Given the description of an element on the screen output the (x, y) to click on. 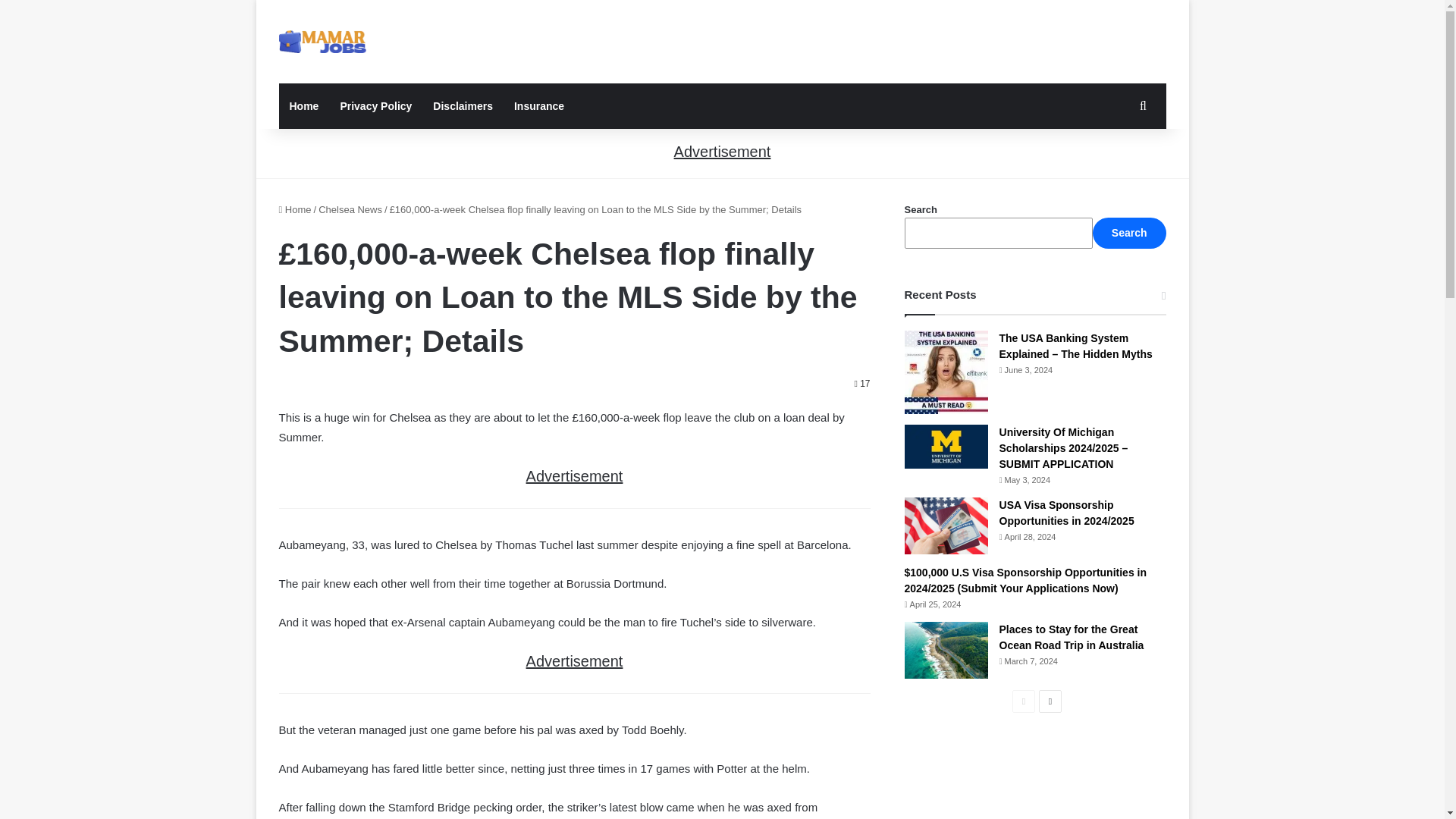
Disclaimers (462, 105)
Insurance (539, 105)
Mamar Today (322, 41)
Home (304, 105)
Home (295, 209)
Chelsea News (349, 209)
Search (1129, 232)
Next page (1050, 701)
Previous page (1023, 701)
Places to Stay for the Great Ocean Road Trip in Australia (1071, 637)
Privacy Policy (375, 105)
